Given the description of an element on the screen output the (x, y) to click on. 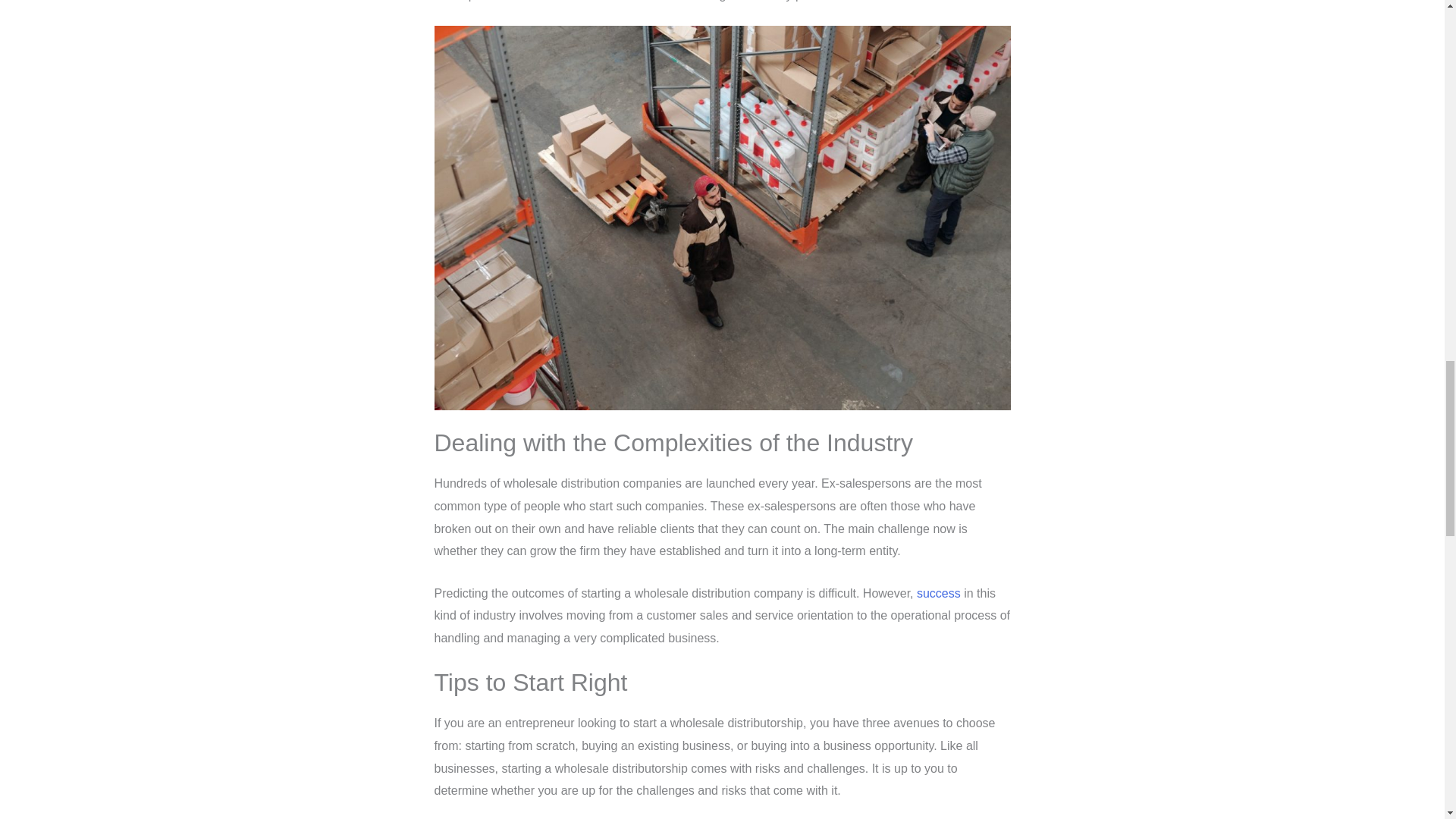
success  (940, 593)
